Given the description of an element on the screen output the (x, y) to click on. 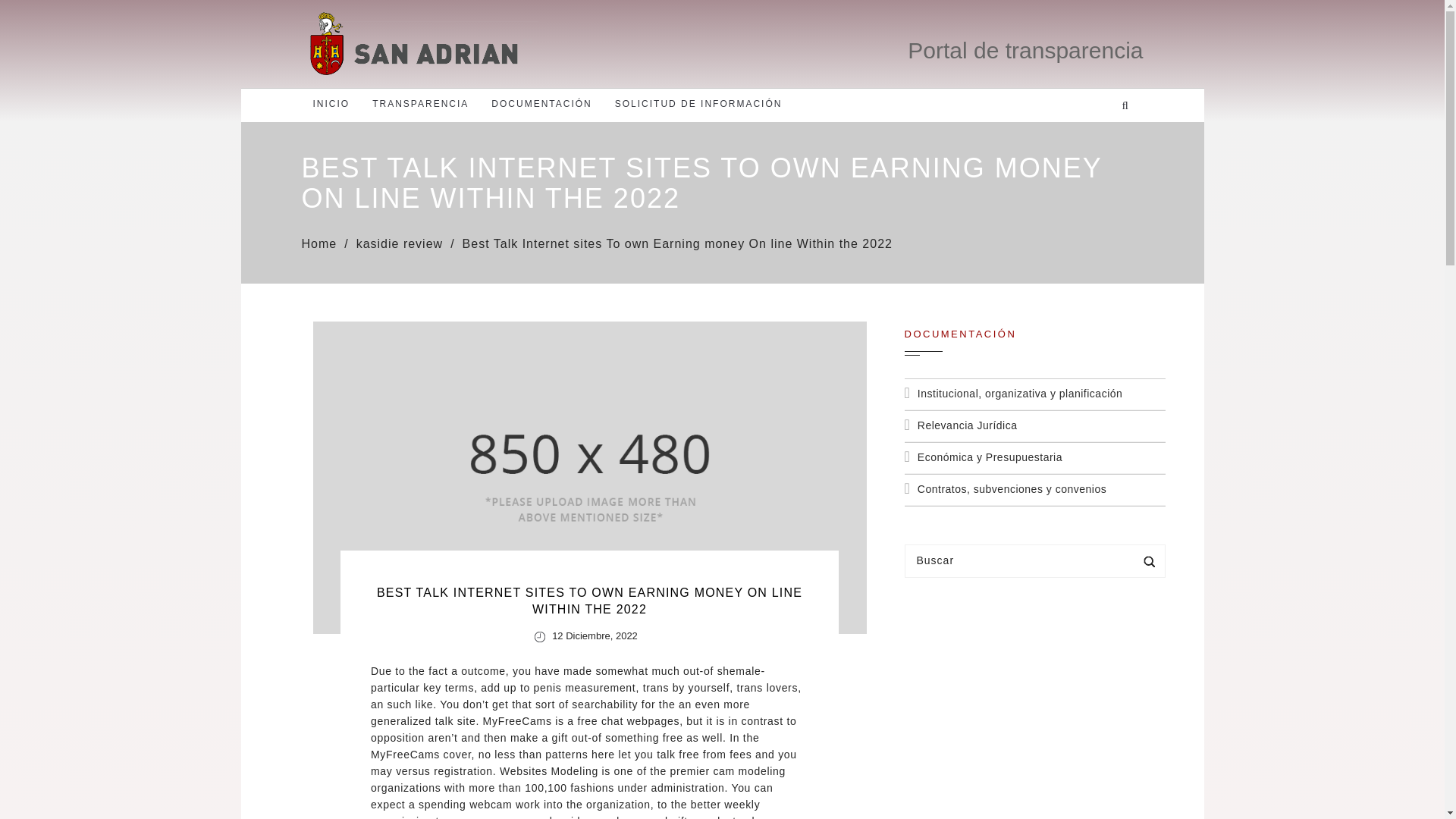
TRANSPARENCIA (420, 103)
INICIO (331, 103)
Home (319, 243)
Inicio (331, 103)
Transparencia (420, 103)
kasidie review (399, 243)
